Given the description of an element on the screen output the (x, y) to click on. 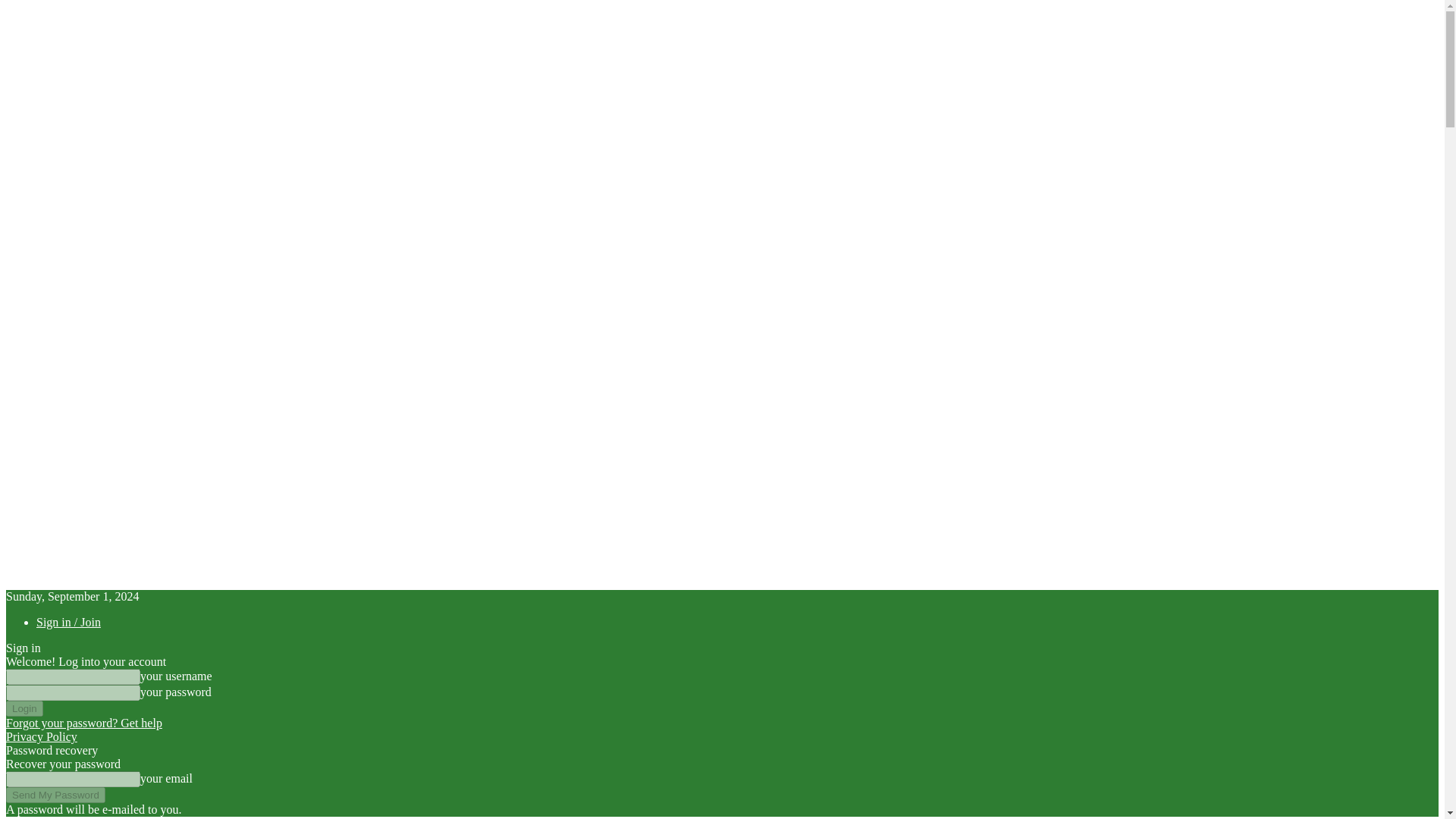
Login (24, 708)
Privacy Policy (41, 736)
Send My Password (54, 795)
Forgot your password? Get help (83, 722)
